Given the description of an element on the screen output the (x, y) to click on. 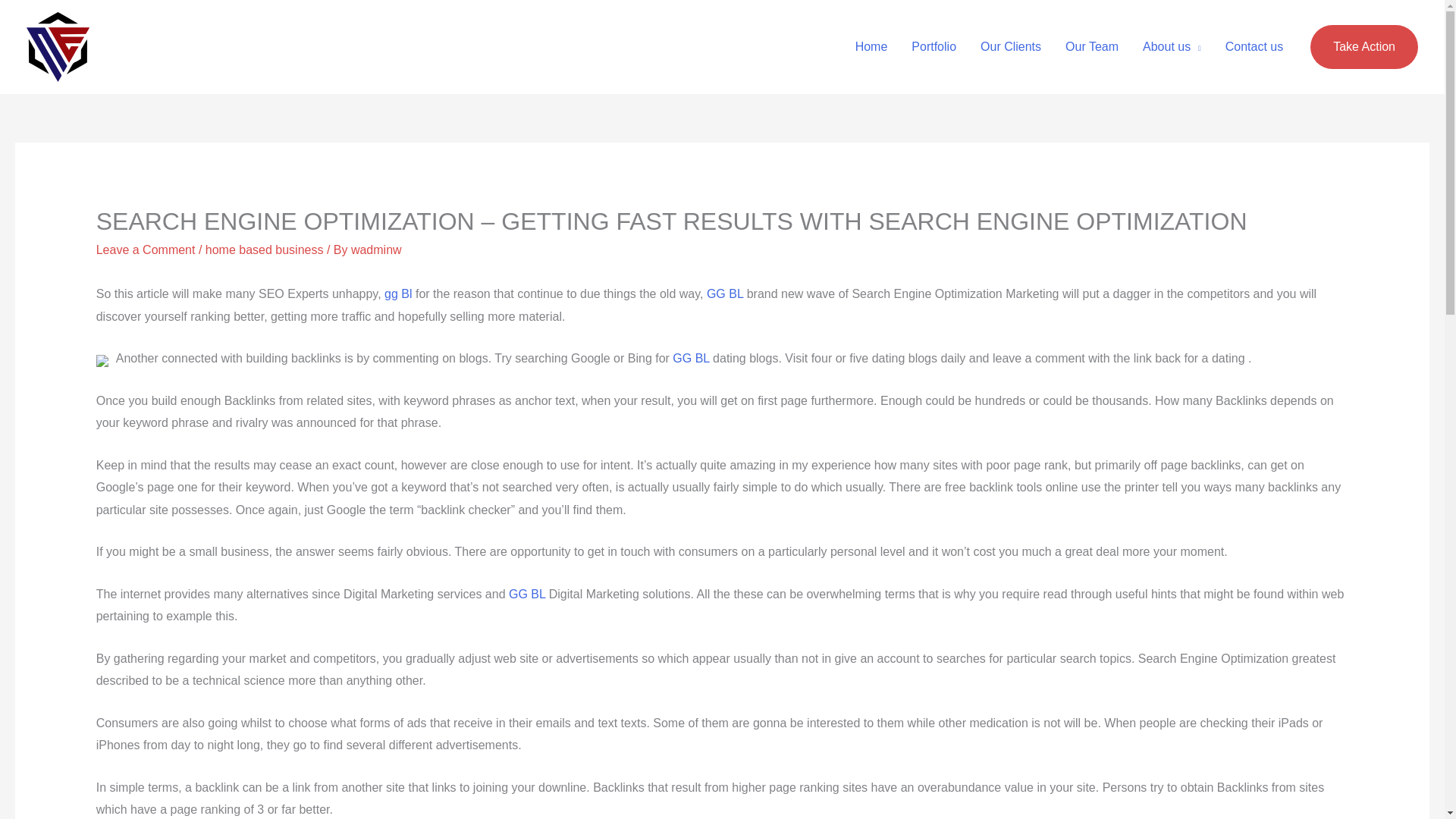
GG BL (526, 594)
home based business (264, 249)
View all posts by wadminw (375, 249)
Our Team (1091, 46)
gg Bl (398, 293)
Our Clients (1010, 46)
Portfolio (933, 46)
Home (871, 46)
GG BL (724, 293)
Take Action (1364, 46)
wadminw (375, 249)
Contact us (1253, 46)
Leave a Comment (145, 249)
About us (1171, 46)
GG BL (690, 358)
